Given the description of an element on the screen output the (x, y) to click on. 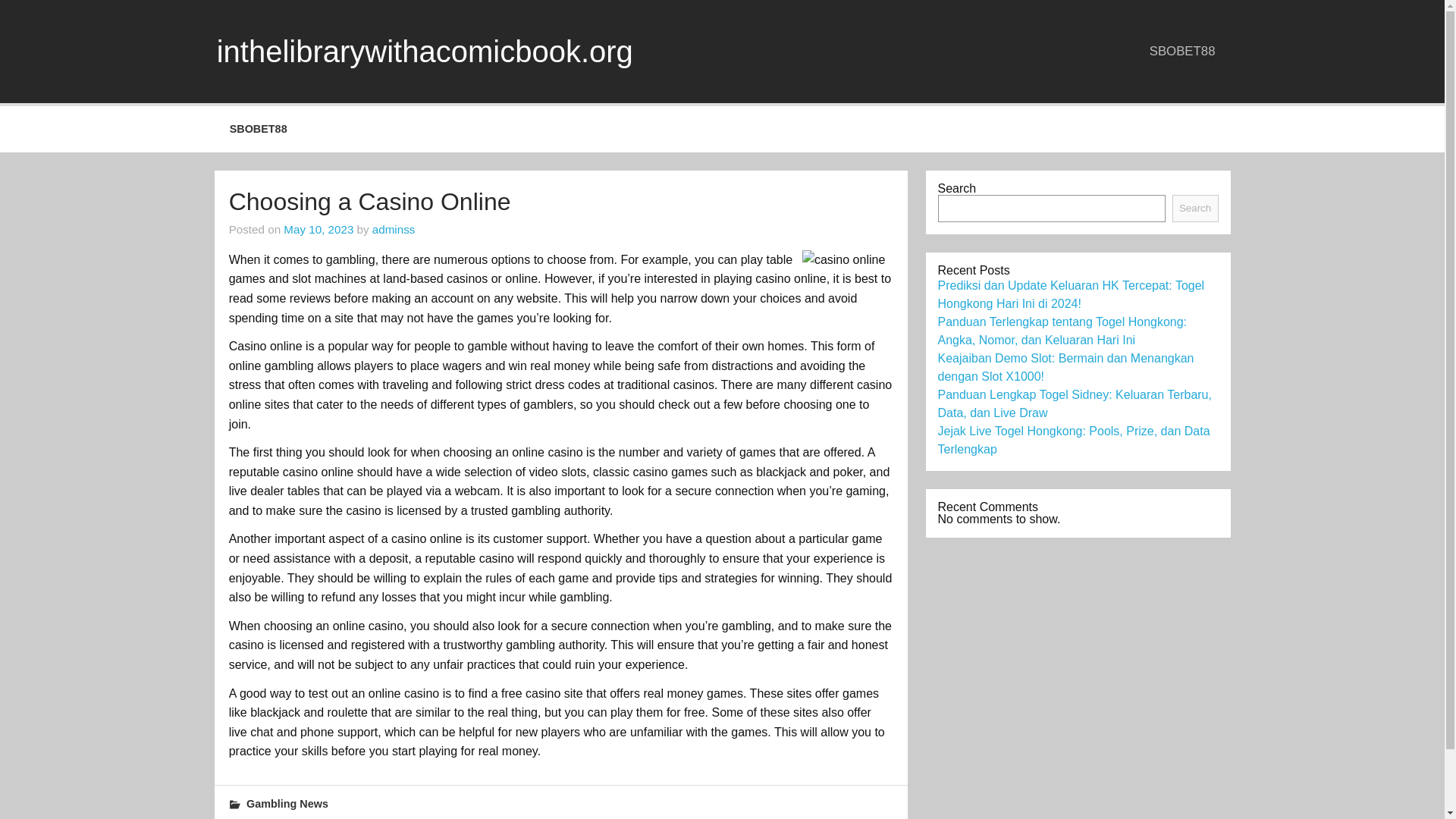
May 10, 2023 (318, 228)
Gambling News (287, 803)
Search (1195, 207)
View all posts by adminss (393, 228)
inthelibrarywithacomicbook.org (424, 51)
adminss (393, 228)
SBOBET88 (1182, 51)
5:59 am (318, 228)
Jejak Live Togel Hongkong: Pools, Prize, dan Data Terlengkap (1073, 440)
SBOBET88 (257, 128)
